Given the description of an element on the screen output the (x, y) to click on. 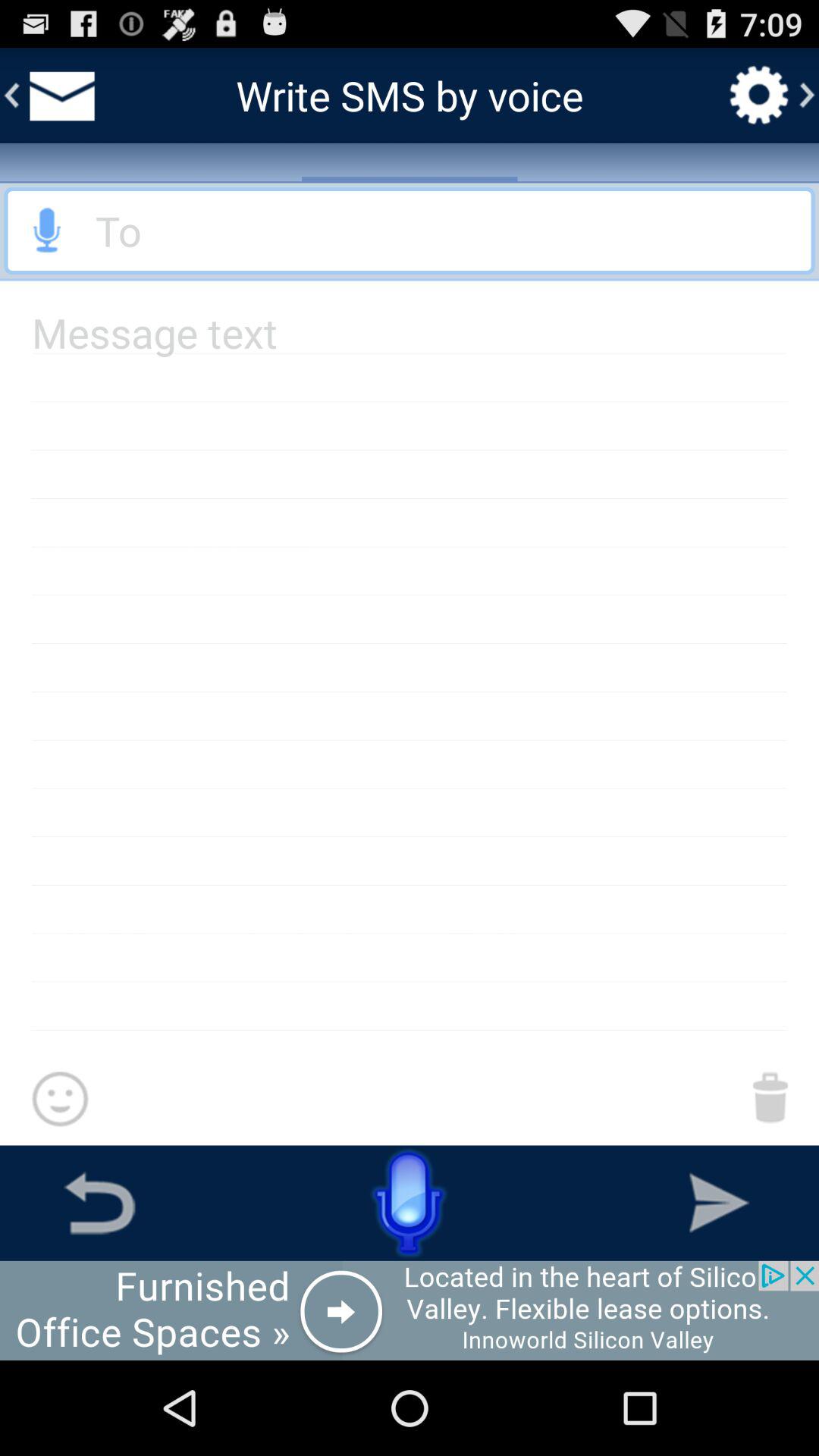
go to settings (759, 95)
